Given the description of an element on the screen output the (x, y) to click on. 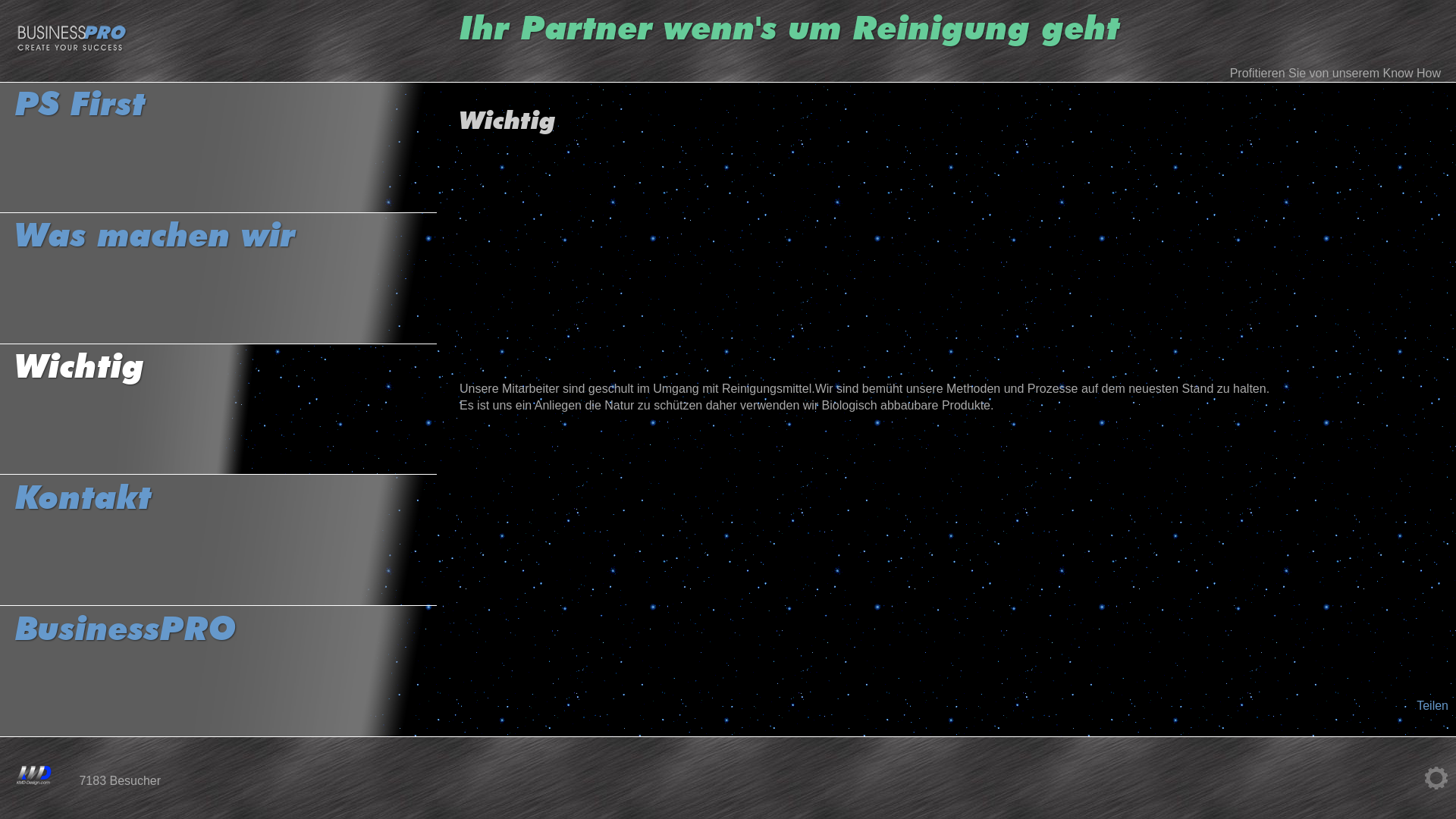
Advertisement Element type: hover (950, 259)
BusinessPRO Element type: text (218, 671)
Teilen Element type: text (1432, 705)
PS First Element type: text (218, 147)
Was machen wir Element type: text (218, 278)
Wichtig Element type: text (218, 409)
Kontakt Element type: text (218, 539)
